Given the description of an element on the screen output the (x, y) to click on. 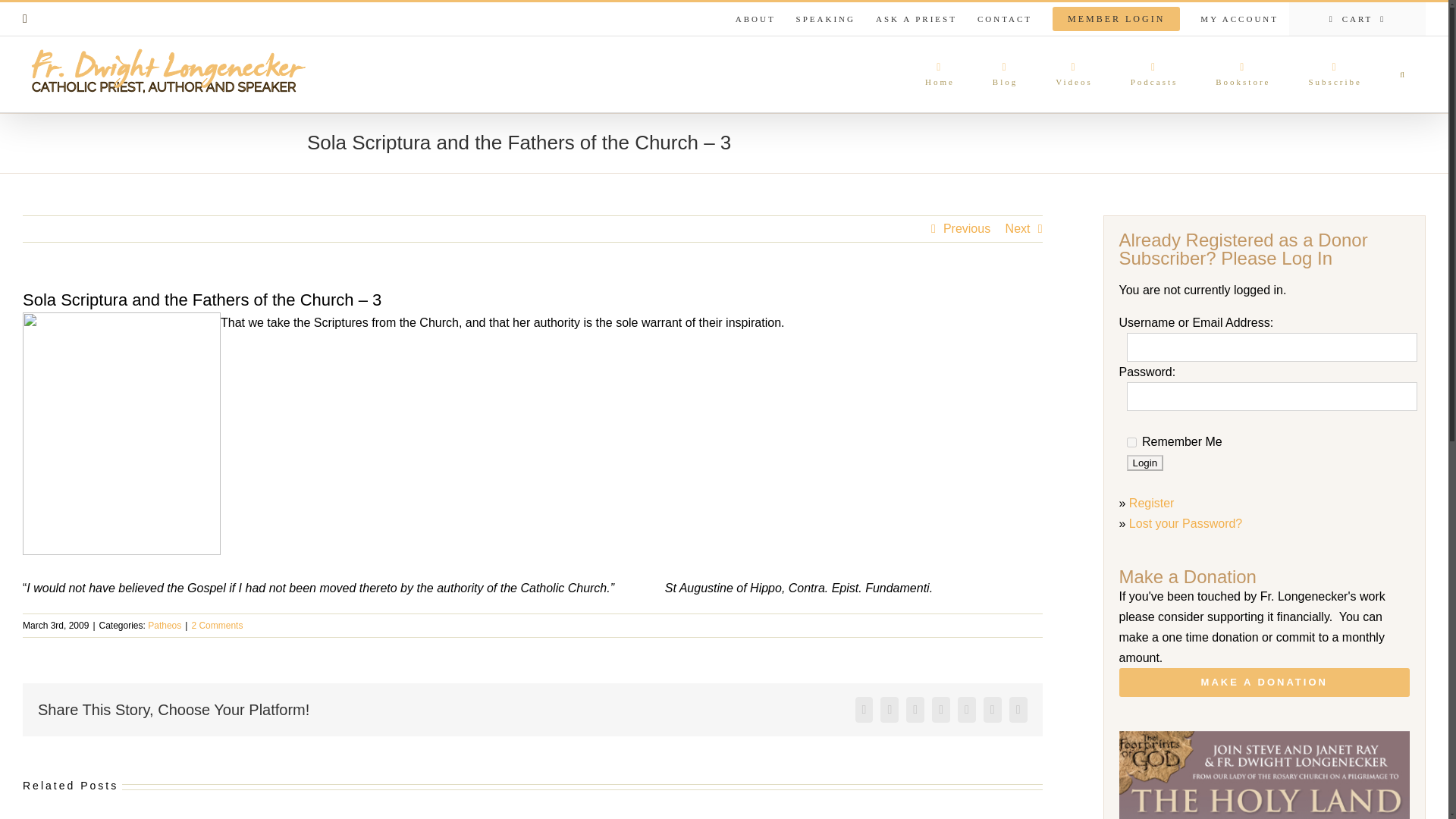
Log In (1273, 160)
MEMBER LOGIN (1115, 19)
ABOUT (755, 19)
CART (1356, 19)
CONTACT (1005, 19)
forever (1131, 442)
MY ACCOUNT (1239, 19)
ASK A PRIEST (916, 19)
SPEAKING (825, 19)
Login (1144, 462)
